Given the description of an element on the screen output the (x, y) to click on. 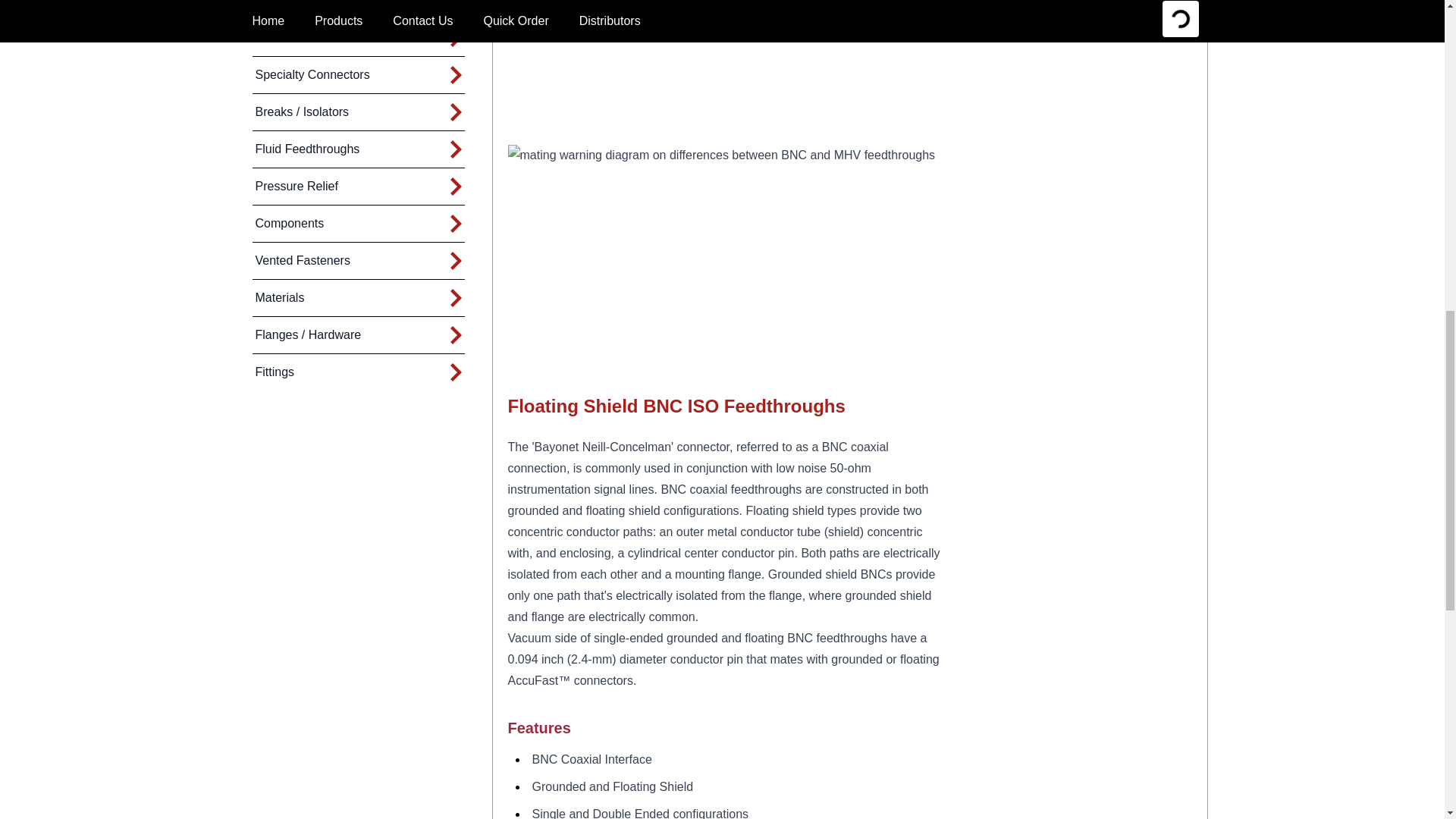
Fluid Feedthroughs (305, 149)
Materials (277, 298)
Pressure Relief (294, 186)
expand sub-categories for Wiring Accessories (454, 4)
Electrical Contacts (303, 37)
Wiring Accessories (303, 9)
Specialty Connectors (310, 74)
expand sub-categories for Specialty Connectors (454, 75)
expand sub-categories for Components (454, 223)
expand sub-categories for Pressure Relief (454, 186)
